Given the description of an element on the screen output the (x, y) to click on. 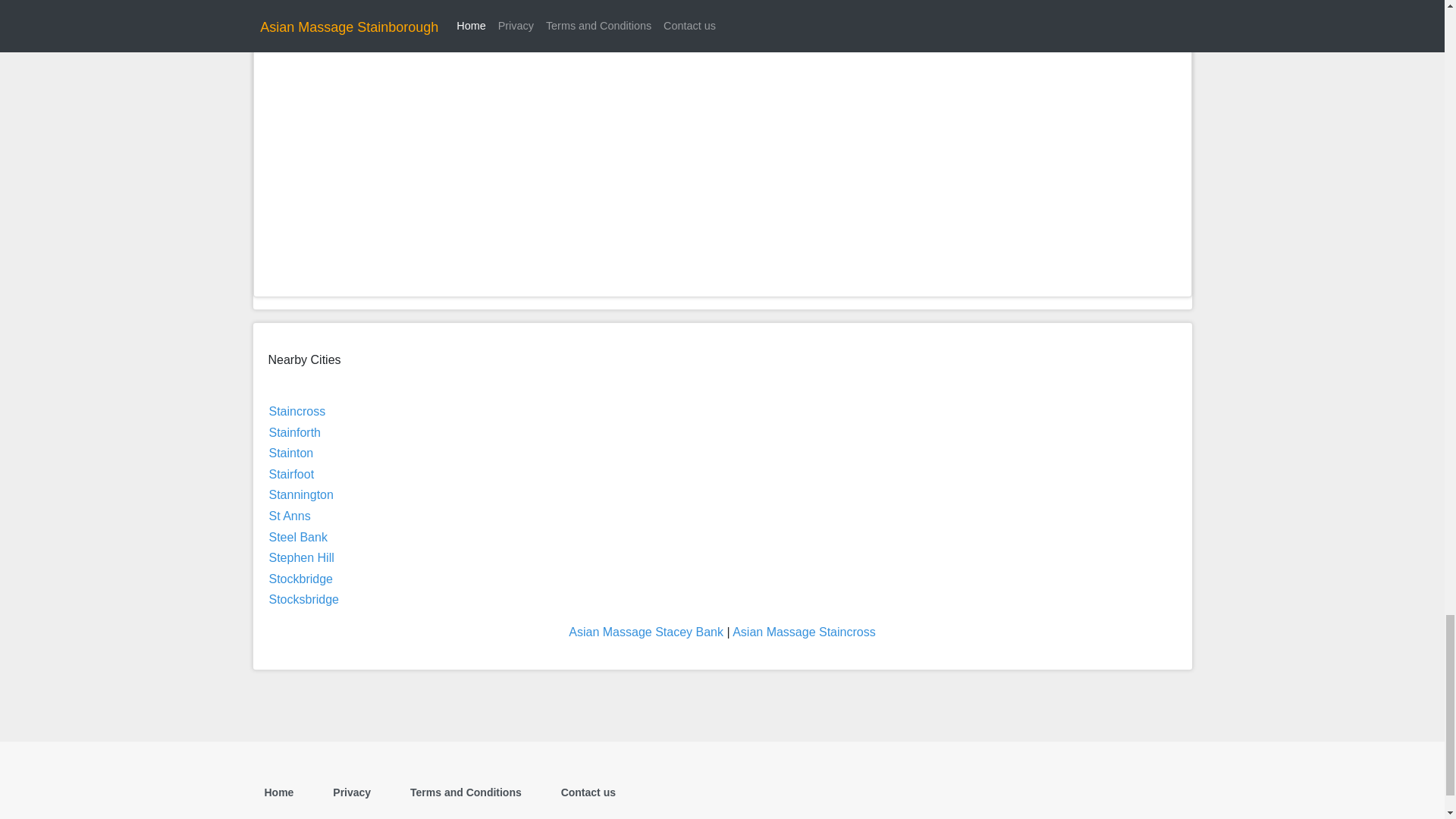
Asian Massage Stacey Bank (646, 631)
Asian Massage Staincross (804, 631)
Stannington (300, 494)
Staincross (295, 410)
Stephen Hill (300, 557)
Stairfoot (290, 473)
Stainforth (293, 431)
St Anns (288, 515)
Stockbridge (300, 578)
Steel Bank (296, 536)
